Given the description of an element on the screen output the (x, y) to click on. 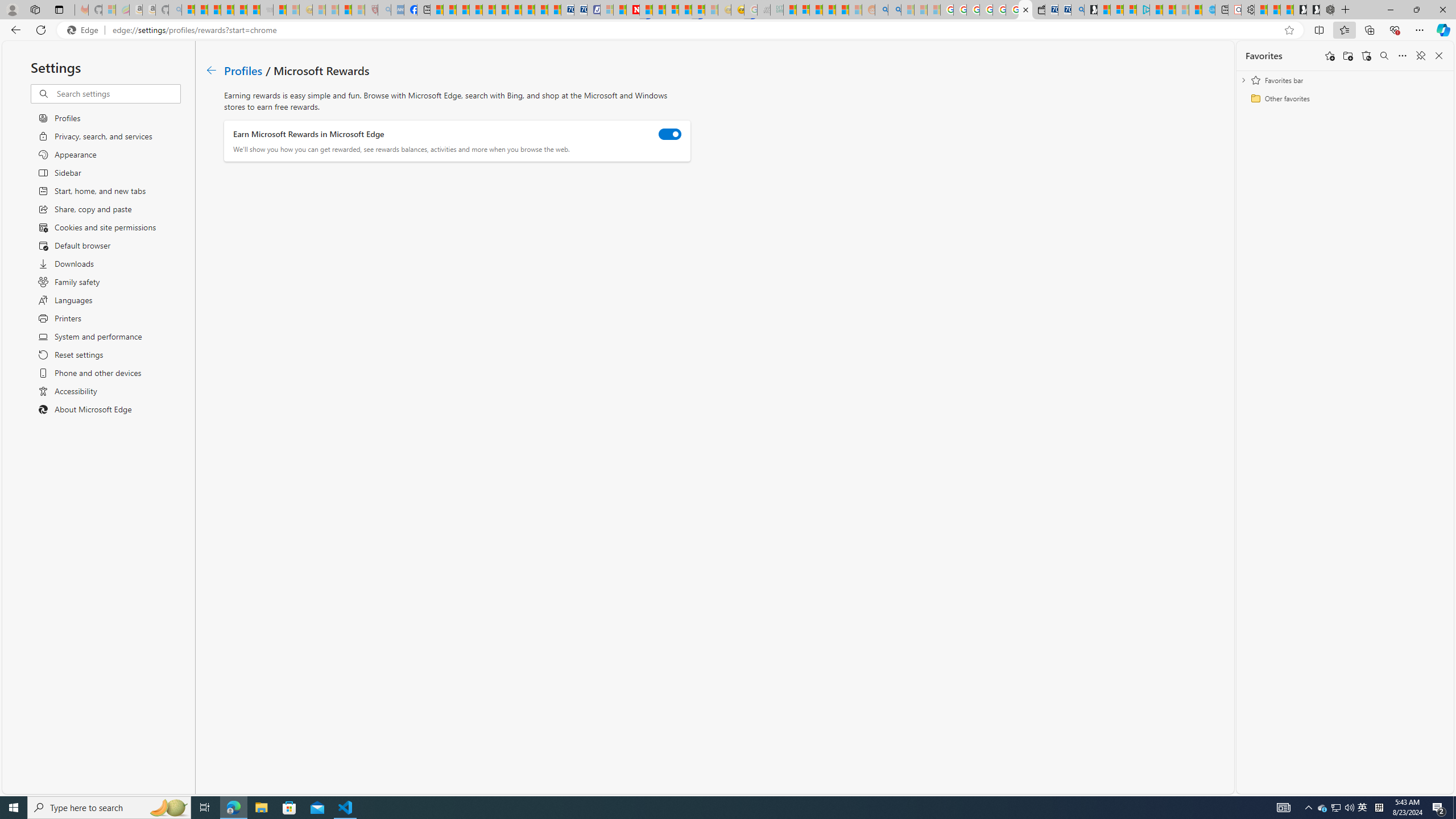
Profiles (243, 69)
Climate Damage Becomes Too Severe To Reverse (475, 9)
Home | Sky Blue Bikes - Sky Blue Bikes (1208, 9)
New Report Confirms 2023 Was Record Hot | Watch (239, 9)
Stocks - MSN (252, 9)
